Given the description of an element on the screen output the (x, y) to click on. 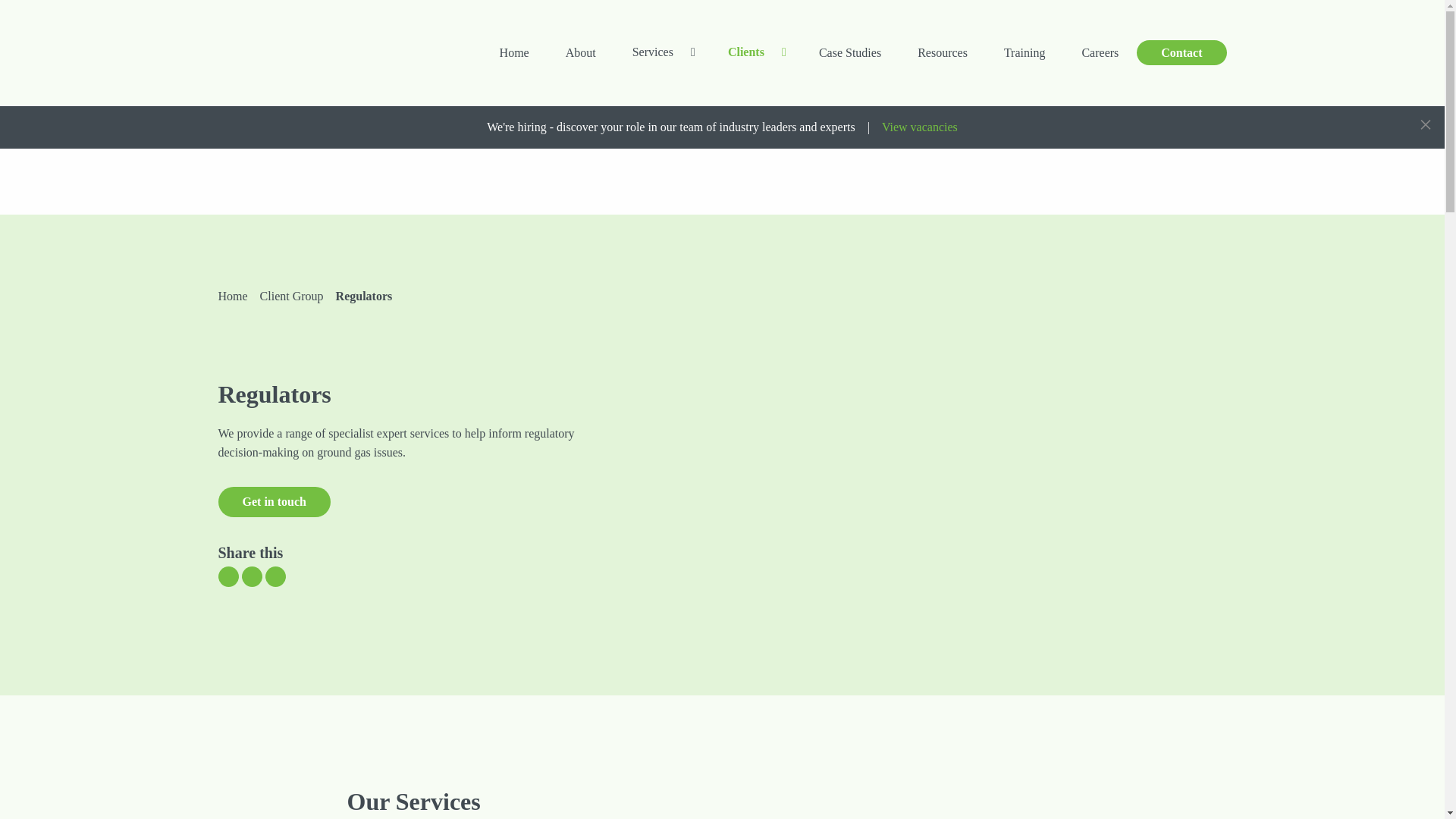
Home (514, 51)
Services (652, 52)
About (580, 51)
